Given the description of an element on the screen output the (x, y) to click on. 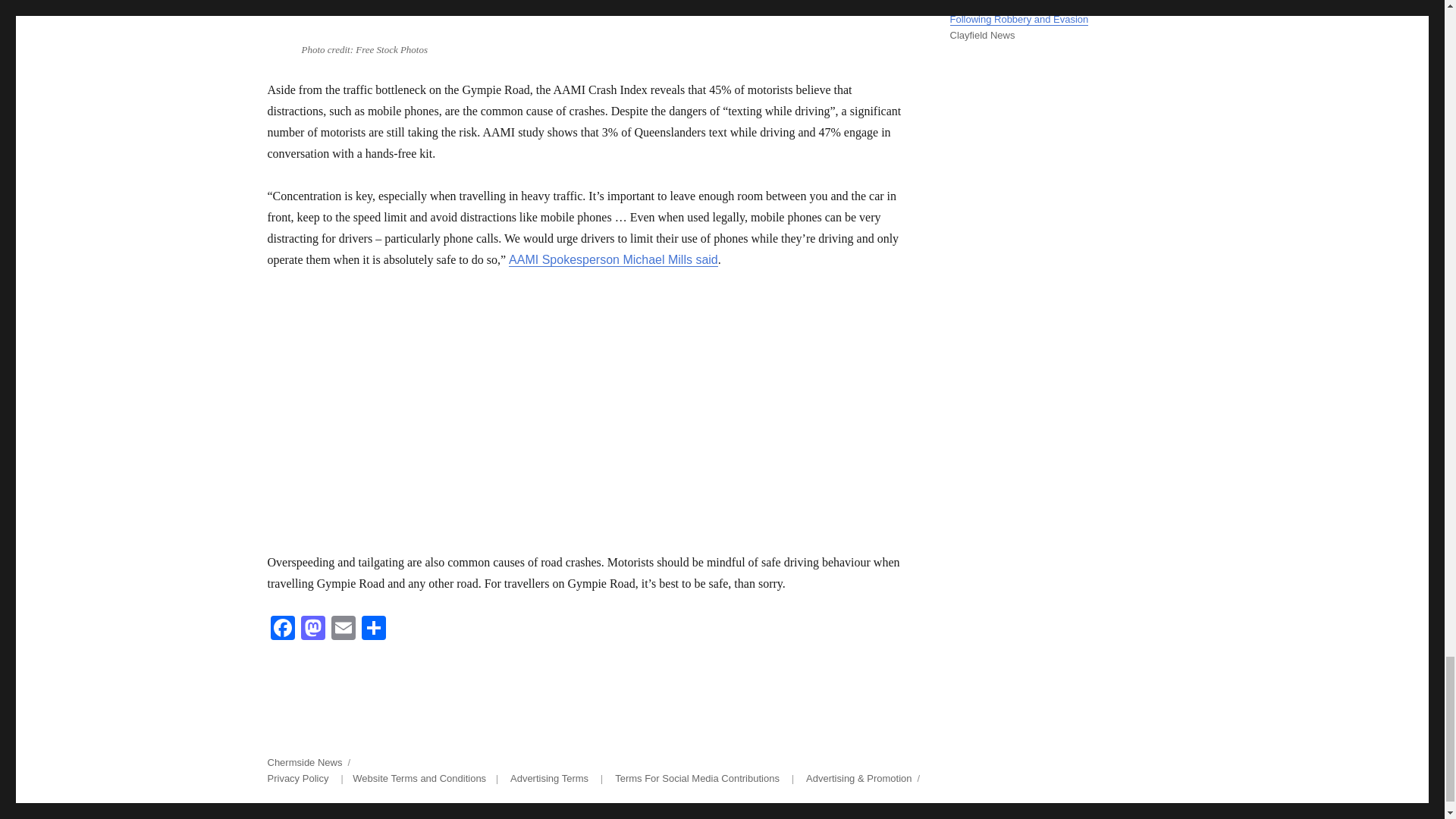
Mastodon (312, 629)
Facebook (281, 629)
AAMI Spokesperson Michael Mills said (612, 259)
Email (342, 629)
Share (373, 629)
Mastodon (312, 629)
Email (342, 629)
Facebook (281, 629)
